Given the description of an element on the screen output the (x, y) to click on. 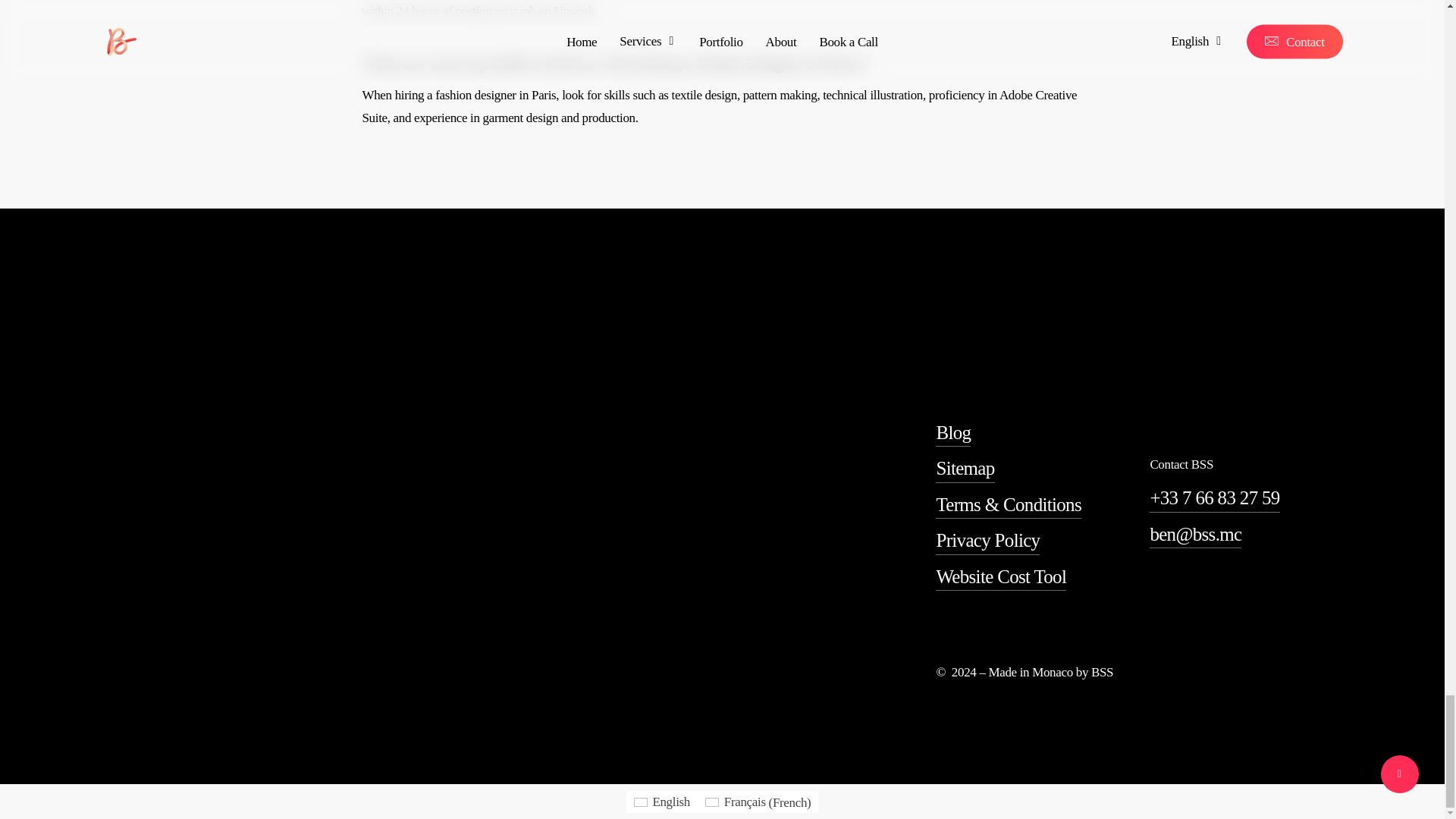
Website Cost Tool (1000, 576)
Sitemap (965, 468)
Blog (953, 432)
Privacy Policy (987, 540)
